Given the description of an element on the screen output the (x, y) to click on. 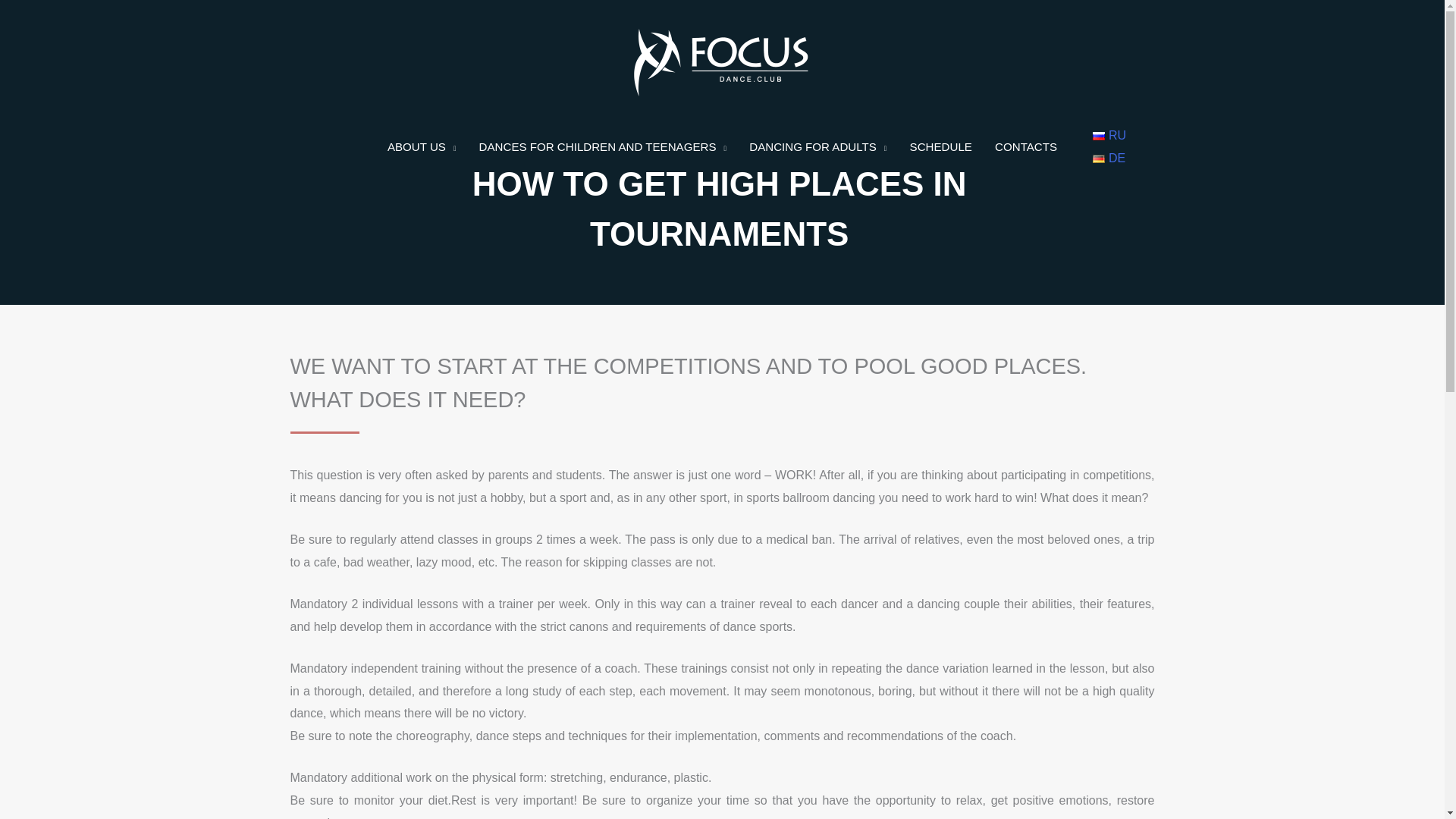
DE (1109, 157)
DANCES FOR CHILDREN AND TEENAGERS (602, 146)
DANCING FOR ADULTS (818, 146)
SCHEDULE (941, 146)
RU (1109, 134)
CONTACTS (1026, 146)
ABOUT US (421, 146)
